Given the description of an element on the screen output the (x, y) to click on. 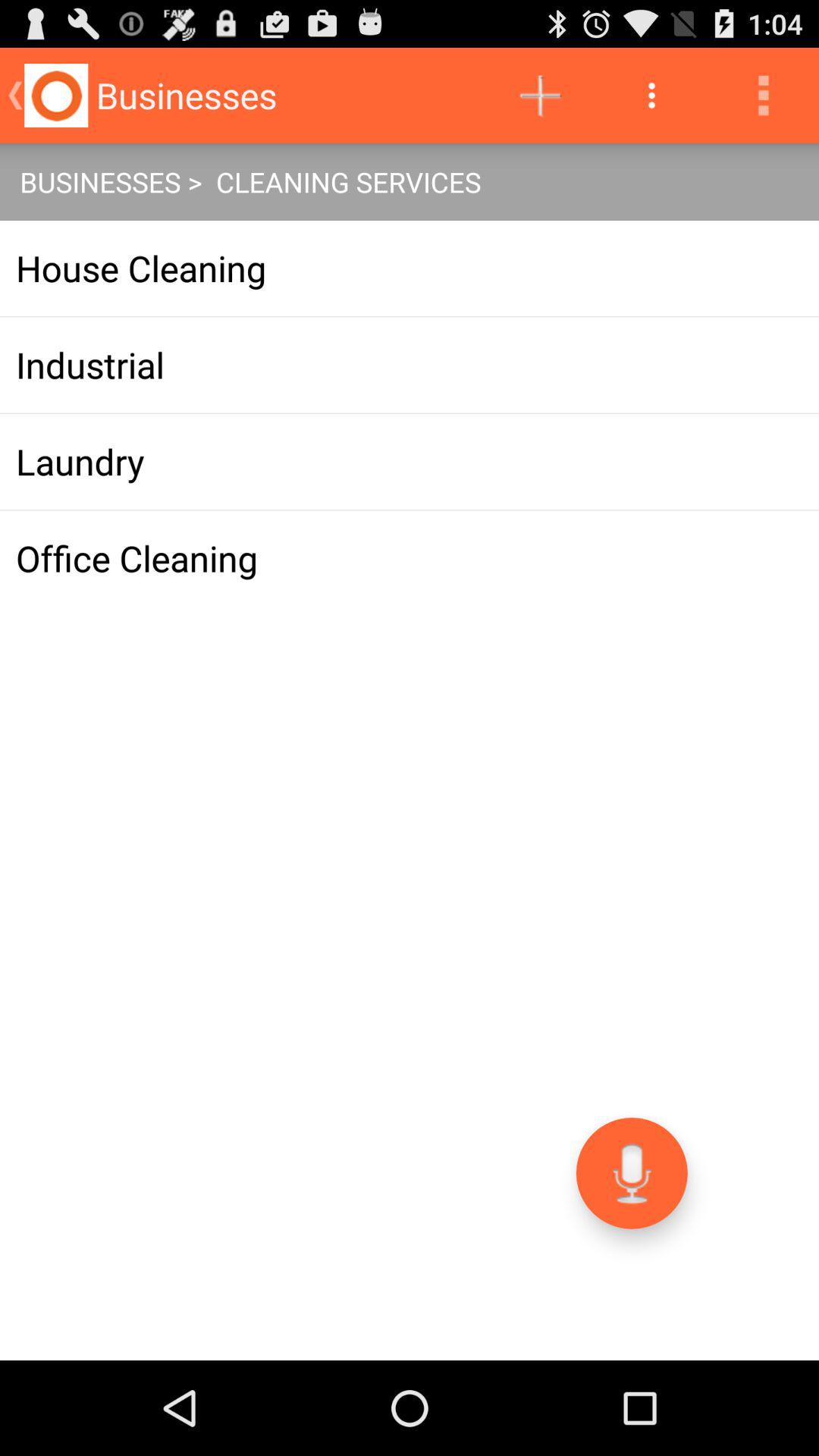
flip until house cleaning (409, 268)
